Given the description of an element on the screen output the (x, y) to click on. 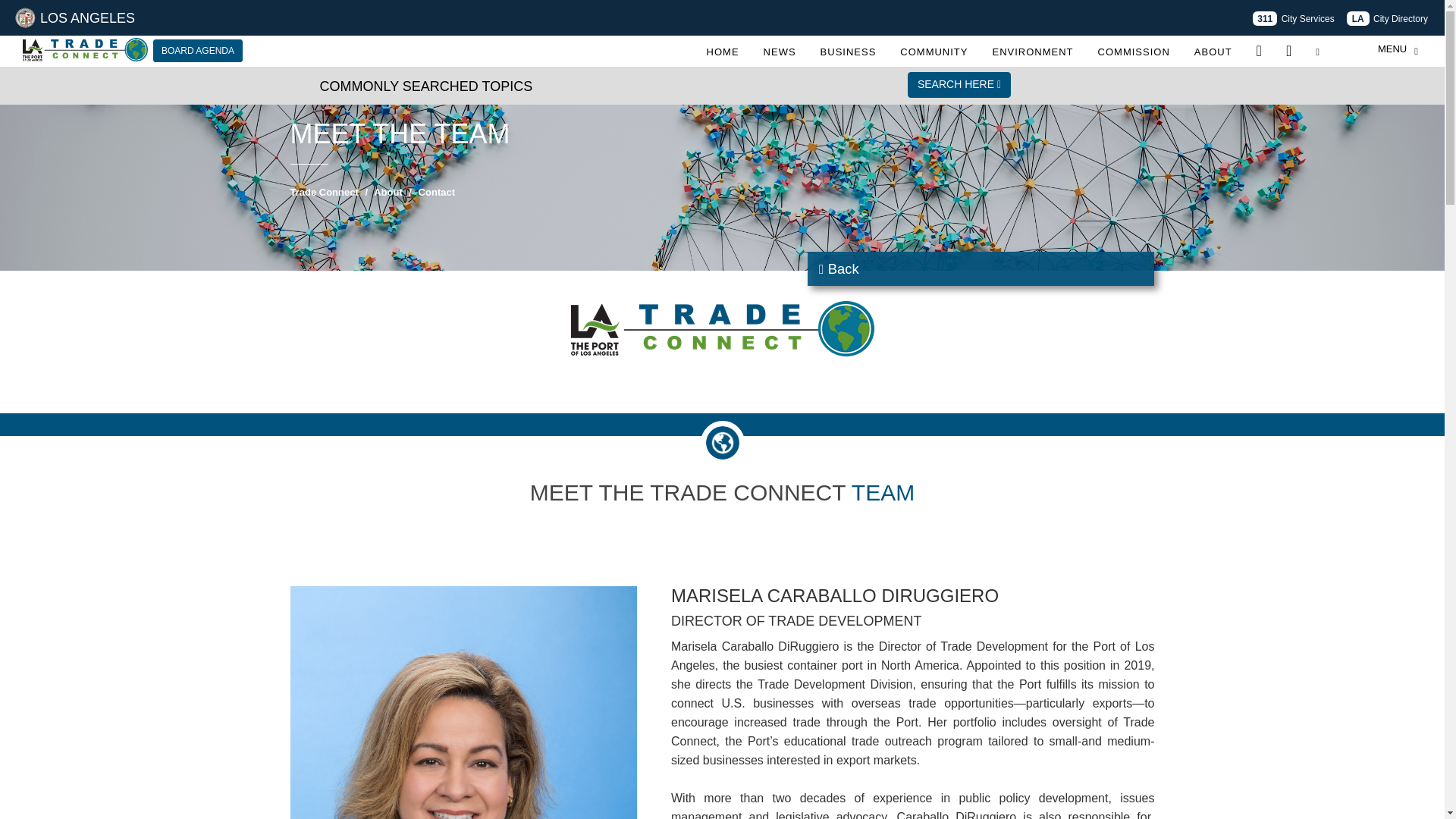
LA City Directory (1387, 18)
311 City Services (1292, 18)
Search (1318, 49)
